Given the description of an element on the screen output the (x, y) to click on. 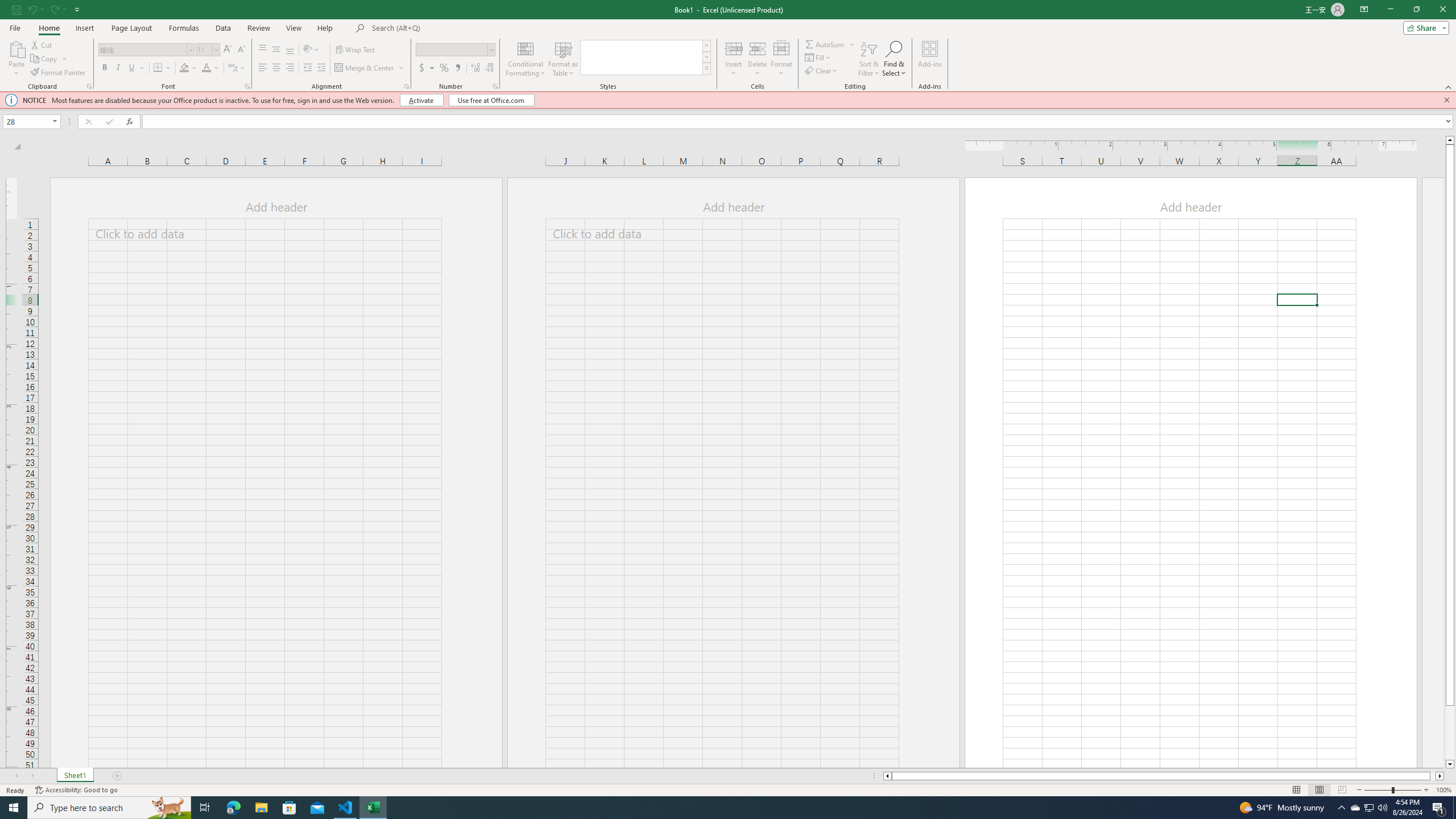
Format Painter (58, 72)
Format as Table (563, 58)
Delete (757, 58)
Bold (104, 67)
Bottom Align (290, 49)
AutomationID: CellStylesGallery (645, 57)
Font Color (206, 67)
Orientation (311, 49)
Insert Cells (733, 48)
